Given the description of an element on the screen output the (x, y) to click on. 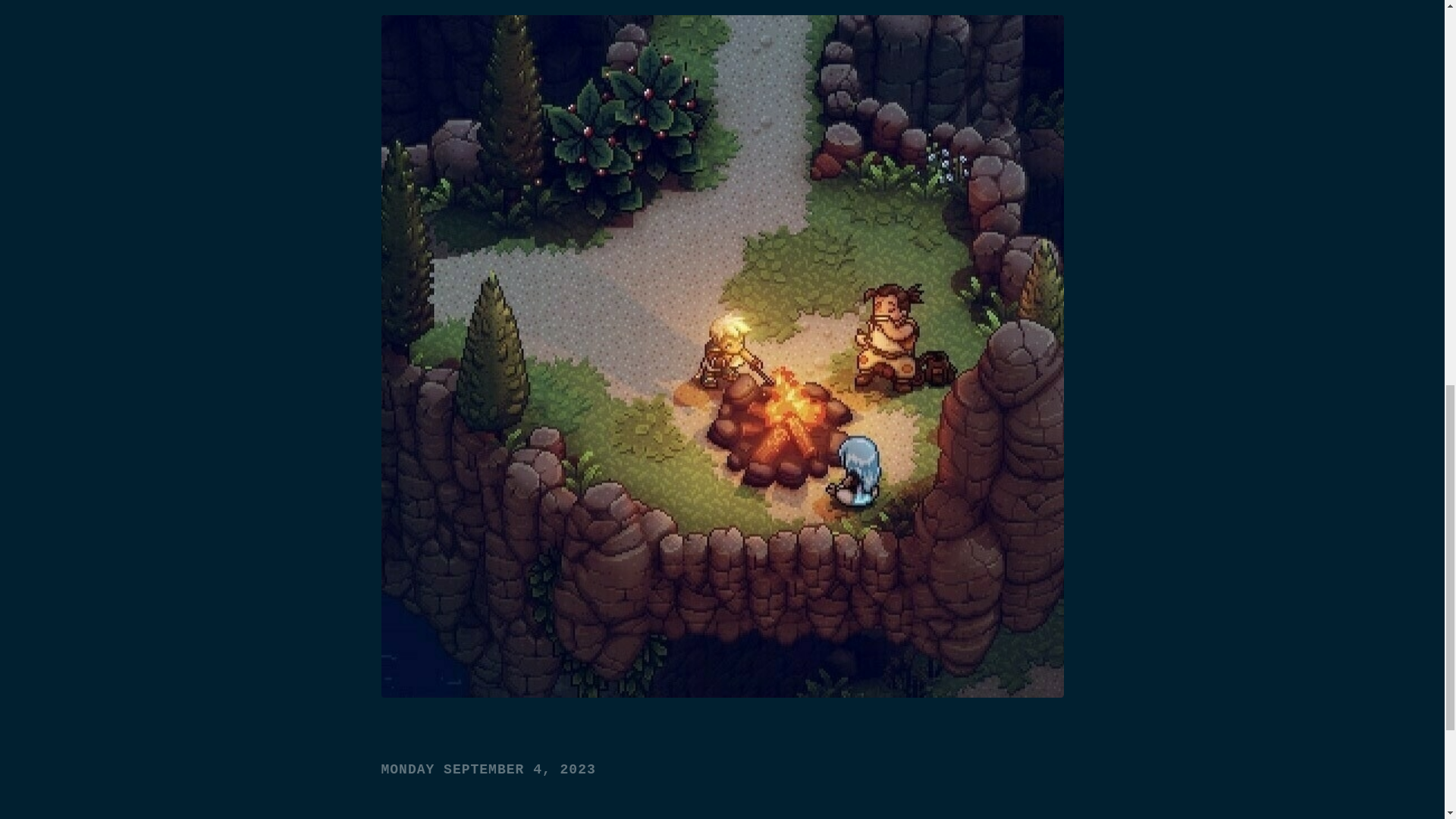
MONDAY SEPTEMBER 4, 2023 (487, 769)
